Given the description of an element on the screen output the (x, y) to click on. 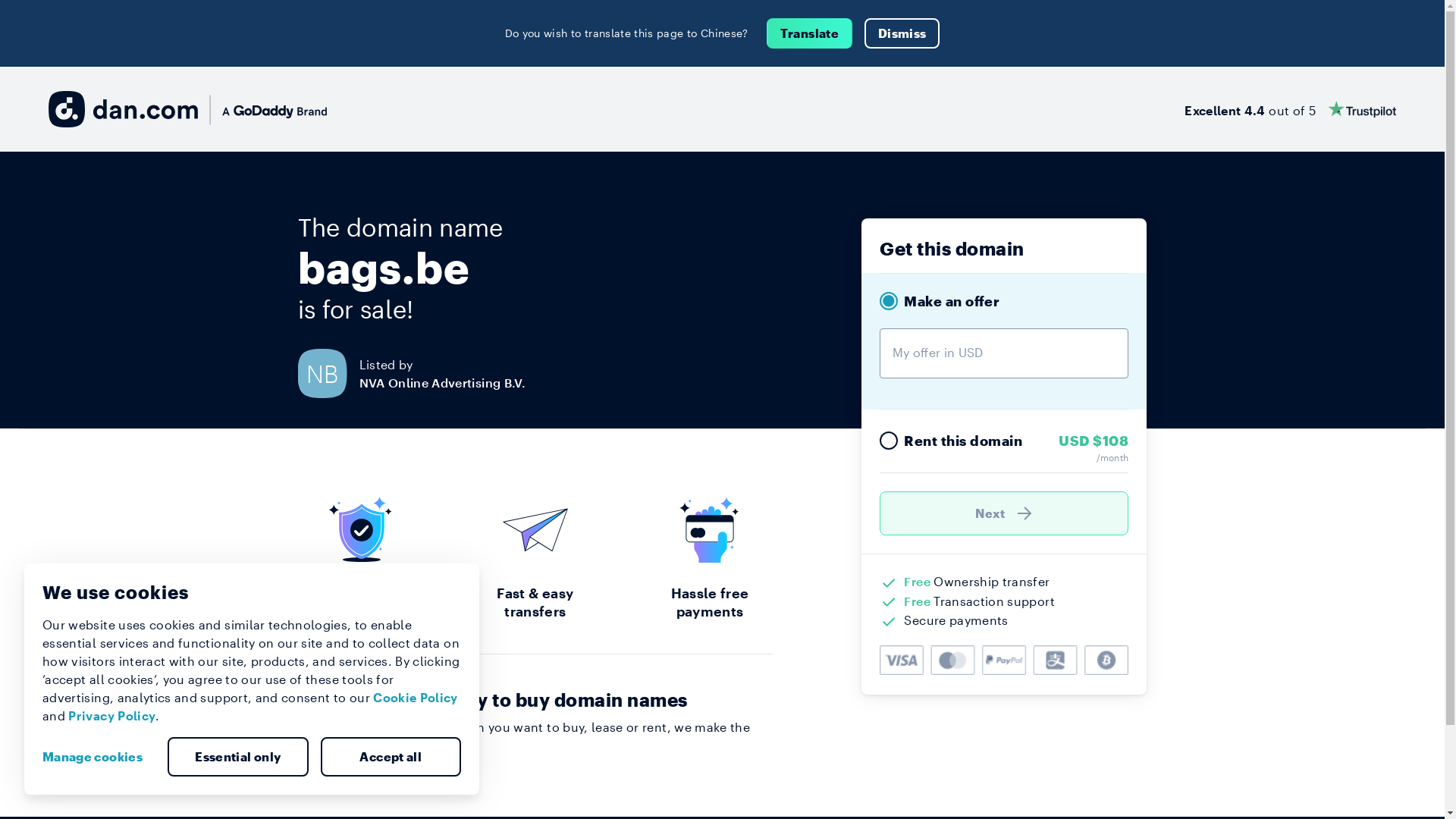
Dismiss Element type: text (901, 33)
Essential only Element type: text (237, 756)
Accept all Element type: text (390, 756)
Next
) Element type: text (1003, 513)
Translate Element type: text (809, 33)
Manage cookies Element type: text (98, 756)
Excellent 4.4 out of 5 Element type: text (1290, 109)
Privacy Policy Element type: text (111, 715)
Cookie Policy Element type: text (415, 697)
